Given the description of an element on the screen output the (x, y) to click on. 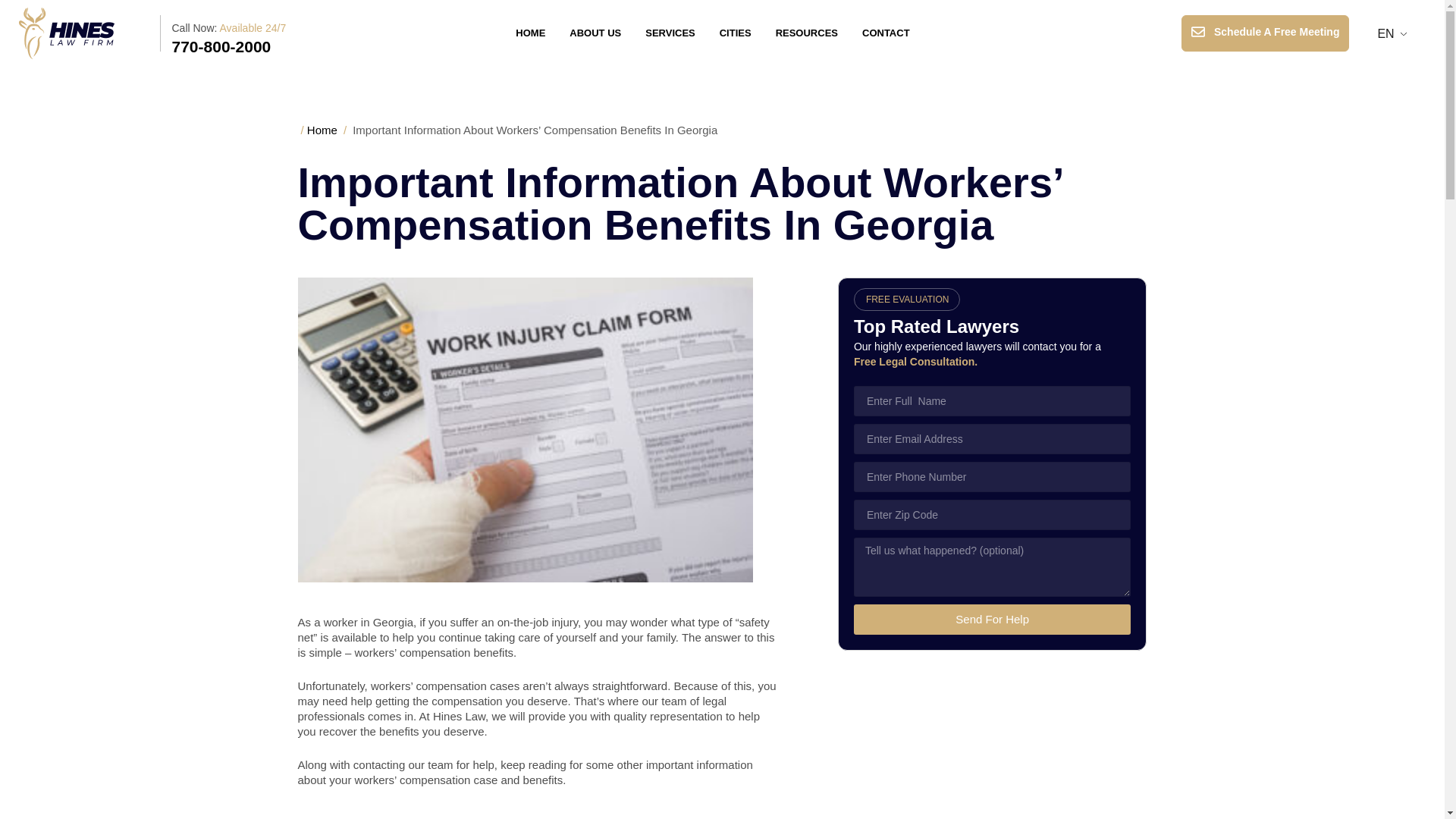
English (1385, 33)
Breadcrumb link to Home (322, 129)
CONTACT (885, 32)
Schedule A Free Meeting (1264, 33)
SERVICES (670, 32)
RESOURCES (806, 32)
CITIES (734, 32)
ABOUT US (595, 32)
HOME (530, 32)
770-800-2000 (220, 46)
